Given the description of an element on the screen output the (x, y) to click on. 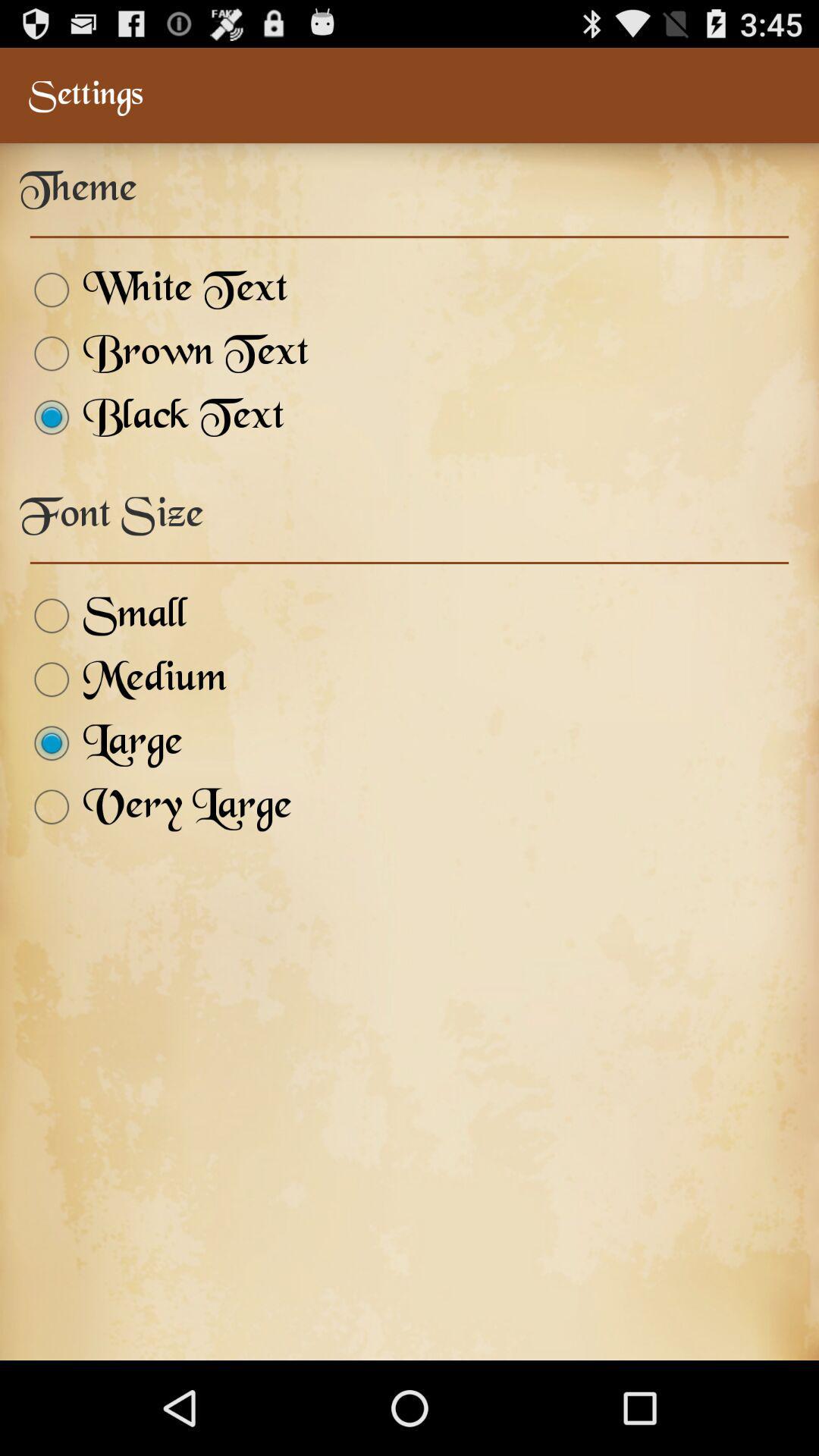
turn on icon above black text item (163, 353)
